Given the description of an element on the screen output the (x, y) to click on. 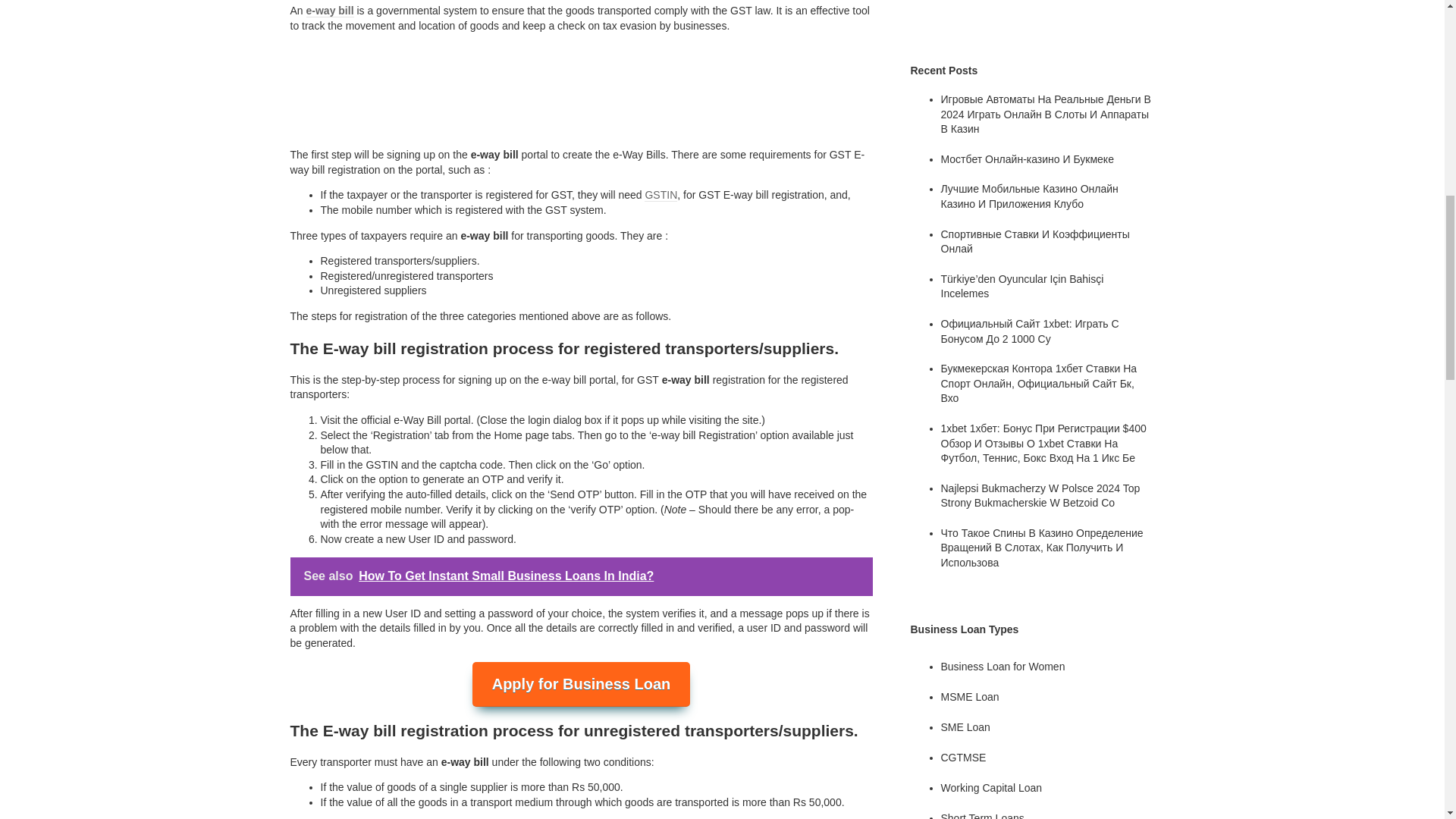
GSTIN (661, 195)
Apply for Business Loan (580, 683)
e-way bill (329, 10)
See also  How To Get Instant Small Business Loans In India? (580, 576)
